Given the description of an element on the screen output the (x, y) to click on. 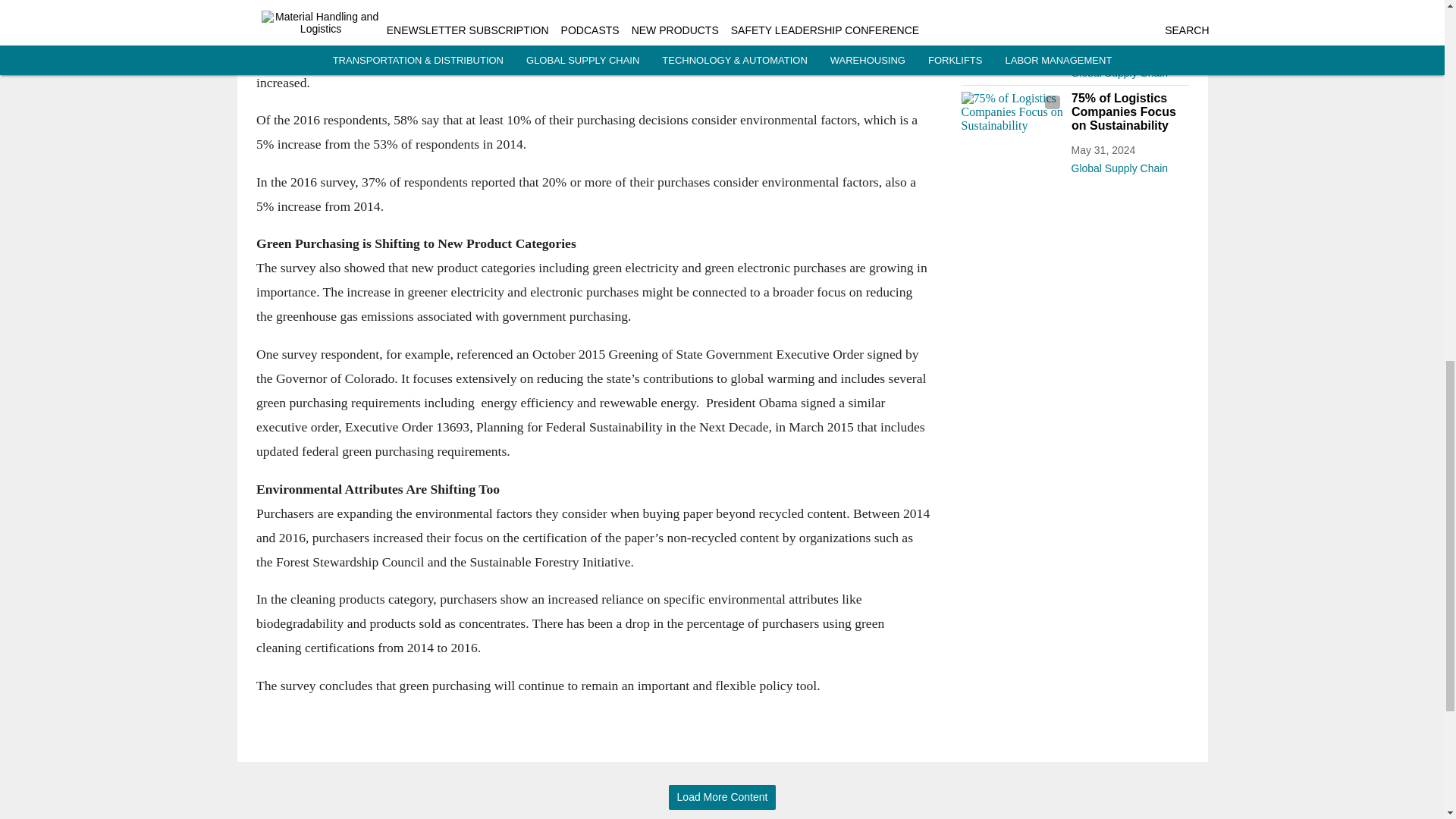
Global Supply Chain (1129, 165)
Global Supply Chain (1129, 69)
Load More Content (722, 796)
